Given the description of an element on the screen output the (x, y) to click on. 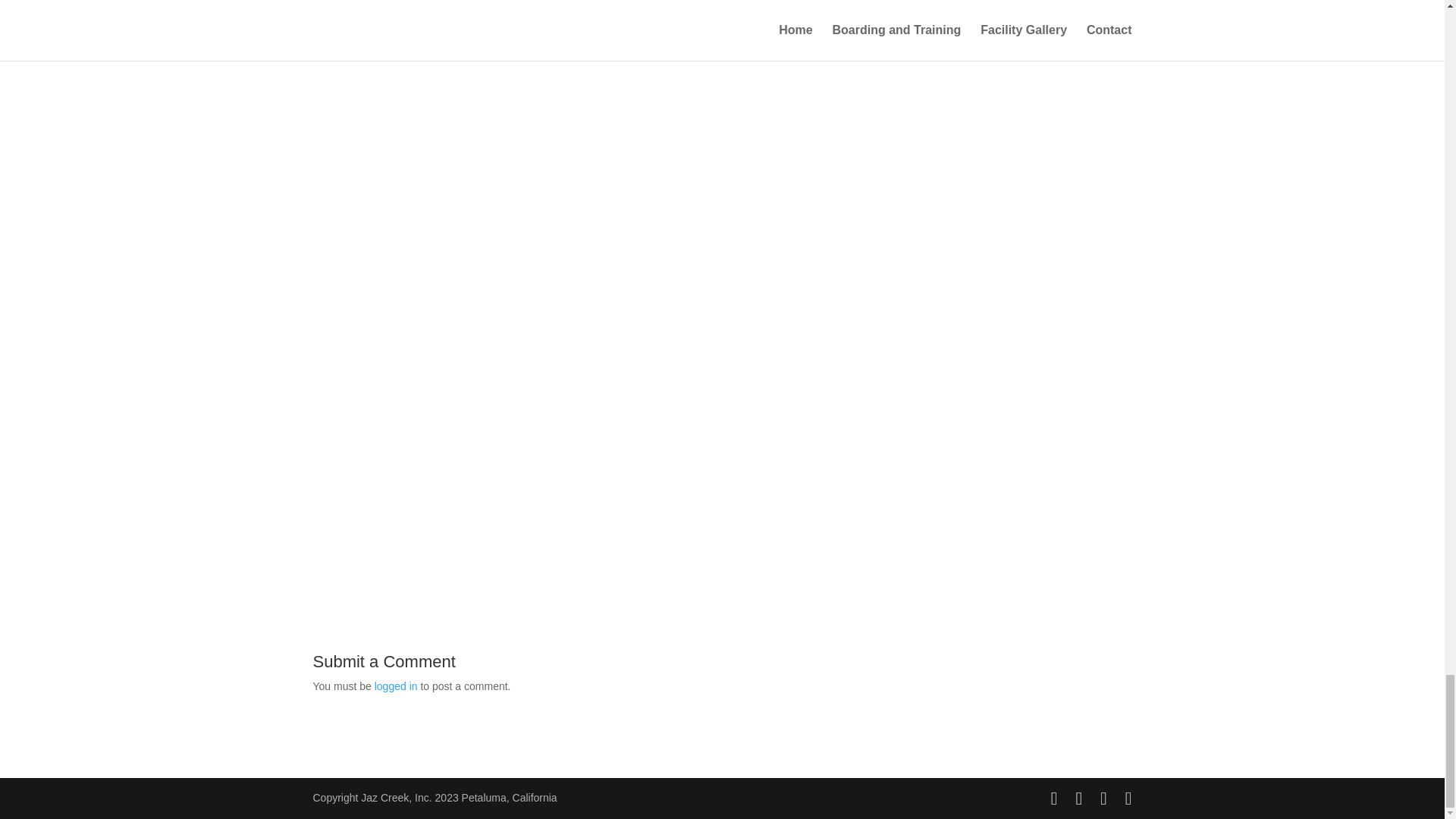
logged in (395, 686)
